Given the description of an element on the screen output the (x, y) to click on. 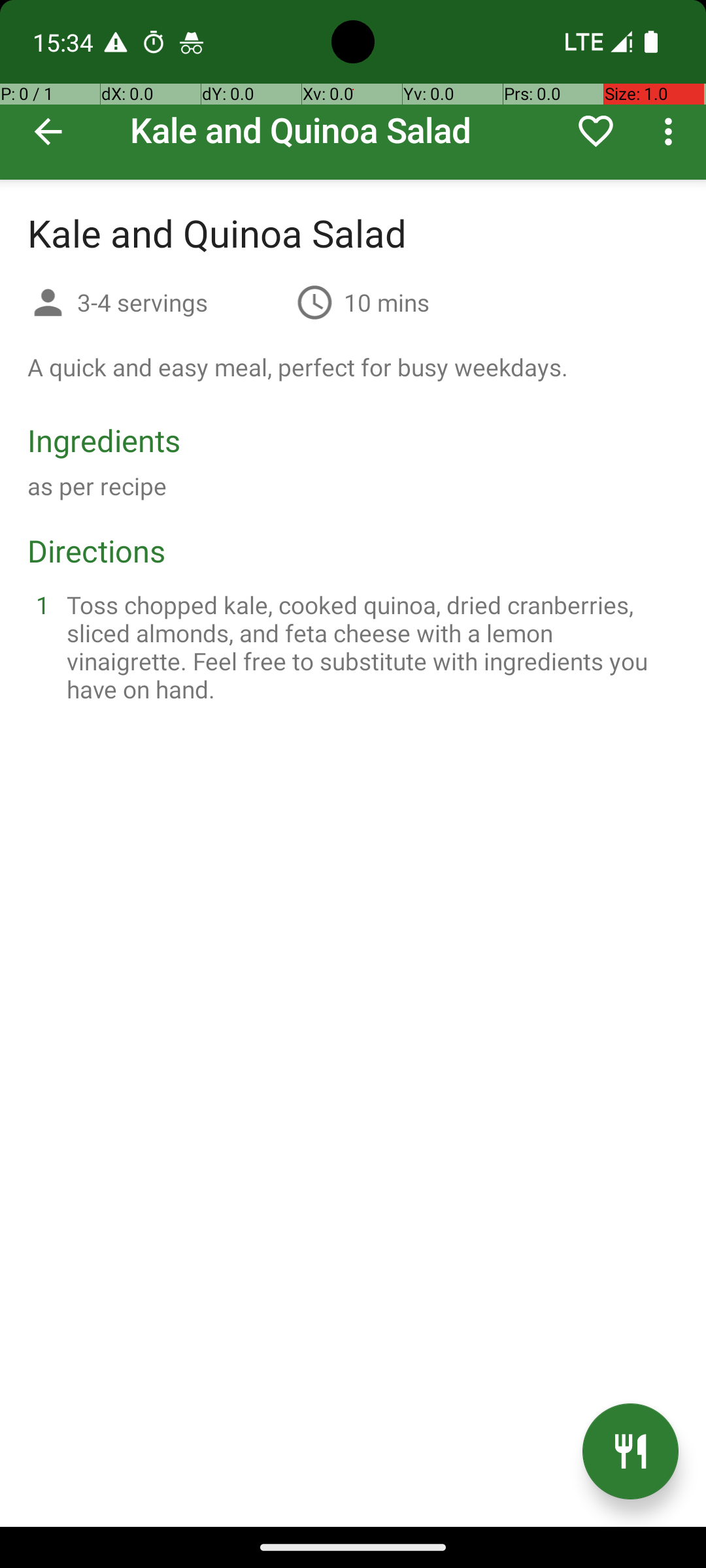
as per recipe Element type: android.widget.TextView (96, 485)
Toss chopped kale, cooked quinoa, dried cranberries, sliced almonds, and feta cheese with a lemon vinaigrette. Feel free to substitute with ingredients you have on hand. Element type: android.widget.TextView (368, 646)
